Given the description of an element on the screen output the (x, y) to click on. 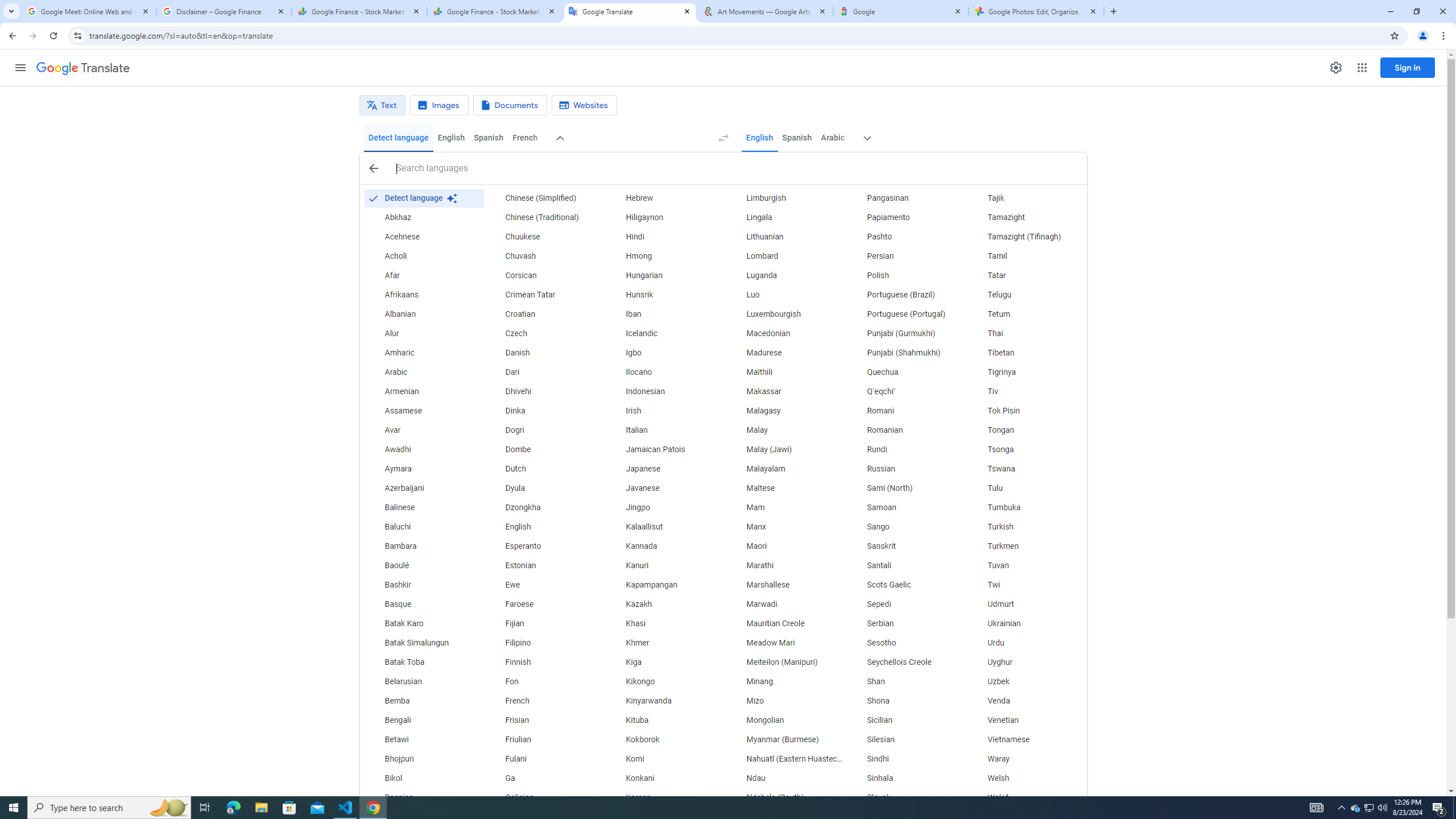
Pangasinan (905, 198)
Chinese (Traditional) (544, 217)
Maltese (785, 488)
Luo (785, 294)
Detect language (423, 198)
Afrikaans (423, 294)
Corsican (544, 275)
Shona (905, 701)
Arabic (832, 137)
Sami (North) (905, 488)
Twi (1026, 584)
Bhojpuri (423, 759)
Meiteilon (Manipuri) (785, 662)
